Given the description of an element on the screen output the (x, y) to click on. 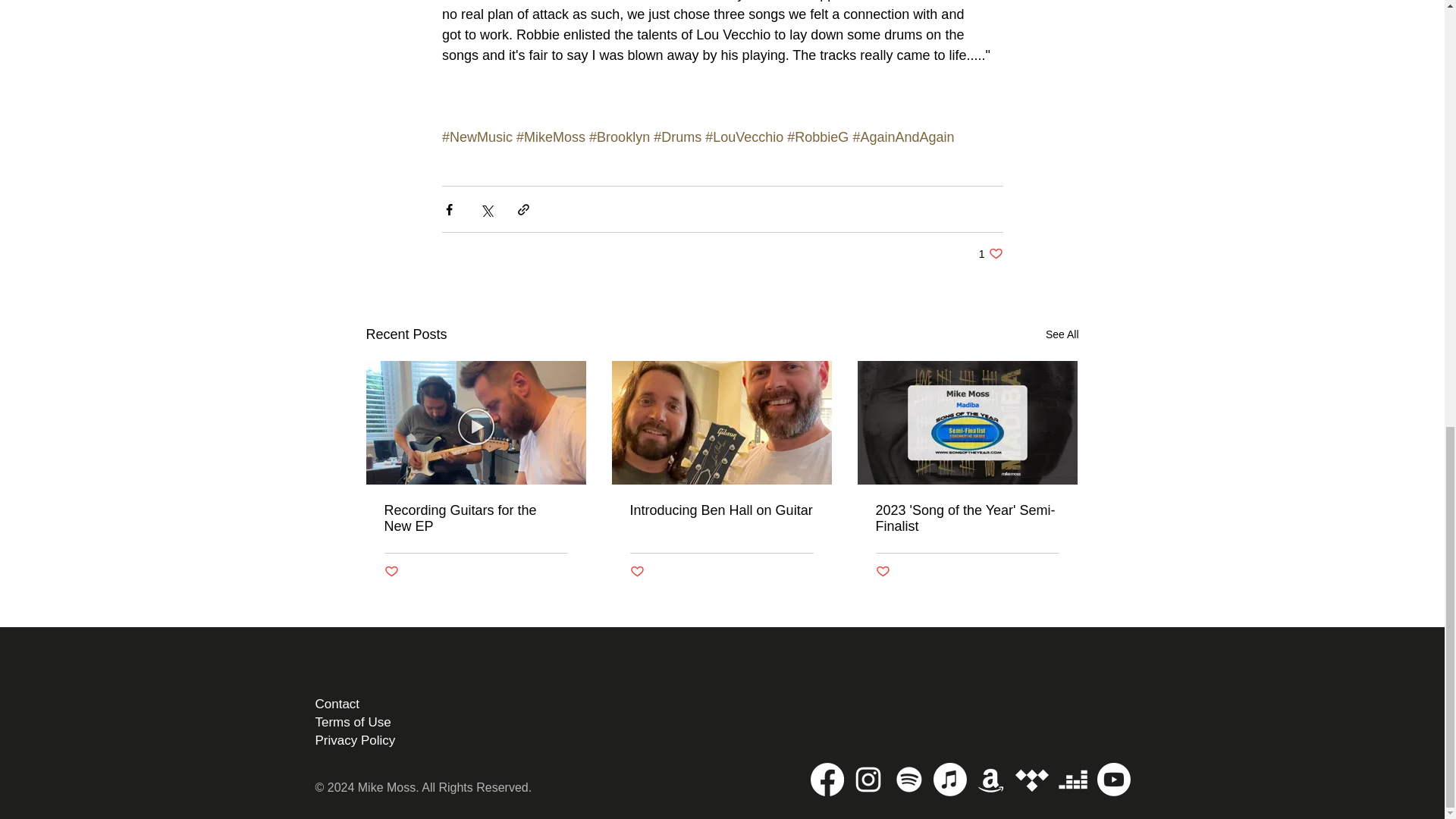
2023 'Song of the Year' Semi-Finalist (990, 253)
Recording Guitars for the New EP (966, 518)
Introducing Ben Hall on Guitar (475, 518)
See All (720, 510)
Terms of Use (1061, 334)
Post not marked as liked (353, 721)
Contact (635, 571)
Privacy Policy (337, 703)
Post not marked as liked (355, 740)
Post not marked as liked (882, 571)
